Given the description of an element on the screen output the (x, y) to click on. 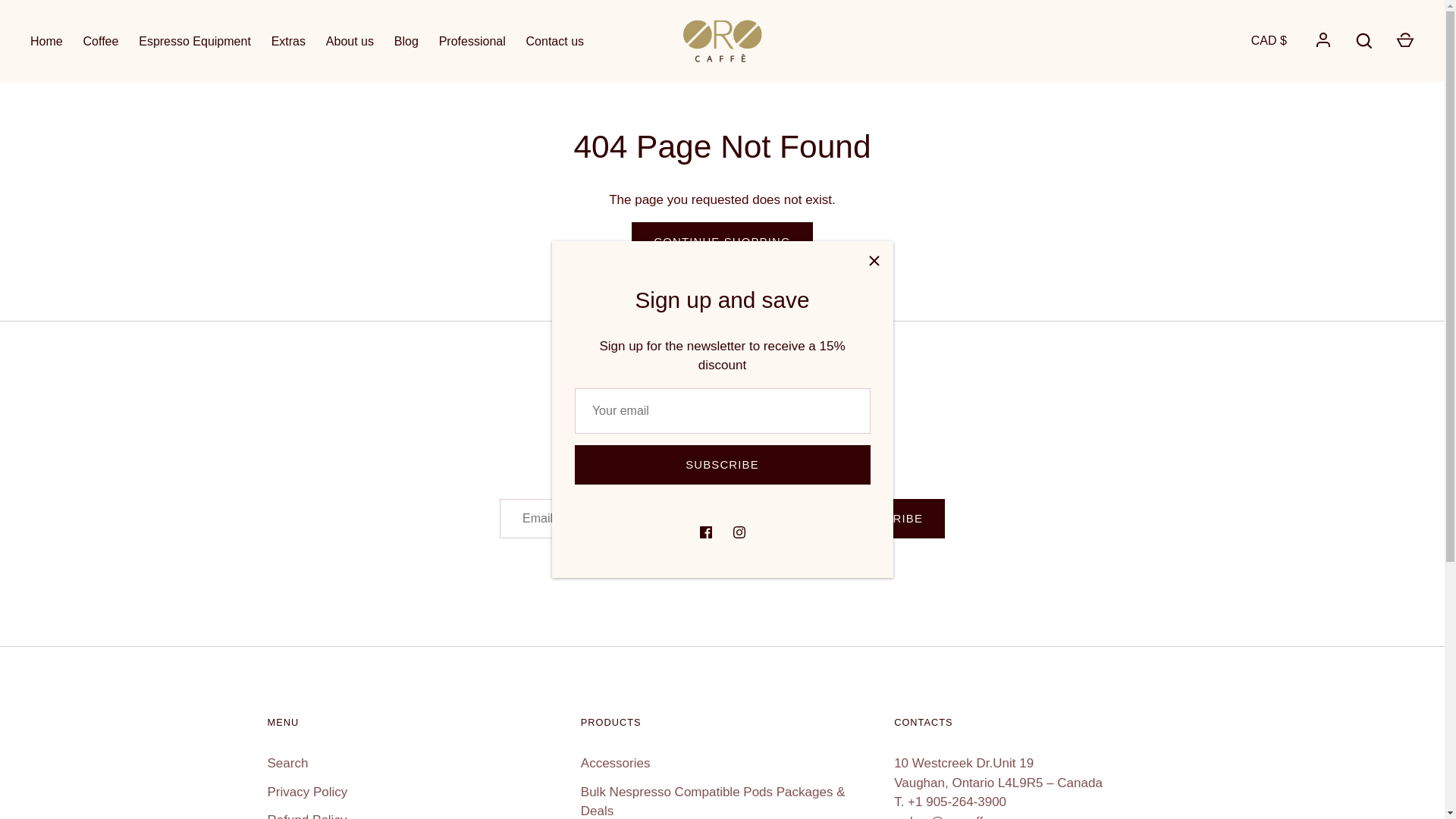
Blog (405, 41)
Espresso Equipment (195, 41)
Contact us (554, 41)
Email (722, 399)
Extras (288, 41)
About us (349, 41)
Home (46, 41)
Coffee (100, 41)
Professional (471, 41)
